Given the description of an element on the screen output the (x, y) to click on. 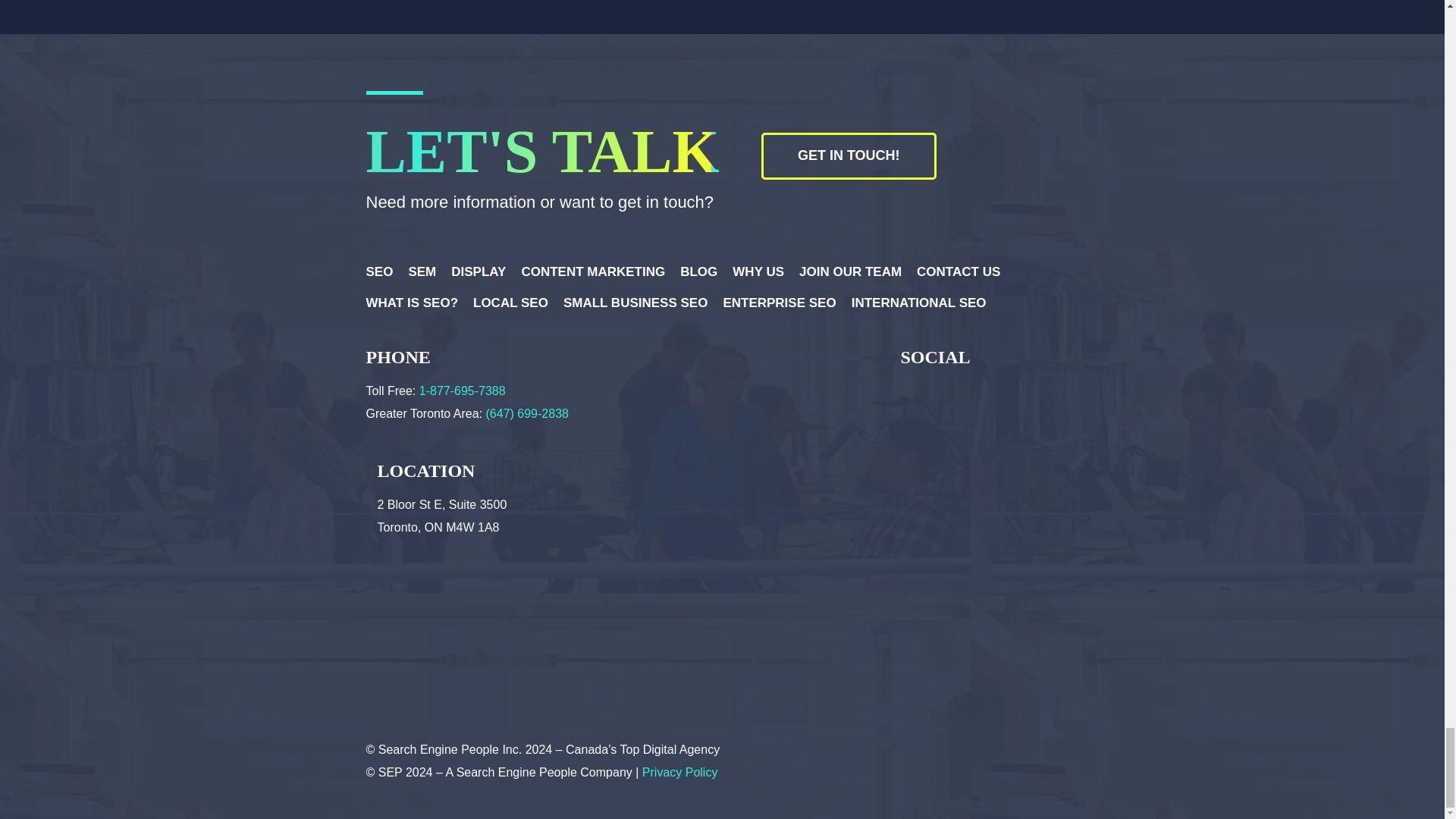
Search Engine People (867, 756)
